Given the description of an element on the screen output the (x, y) to click on. 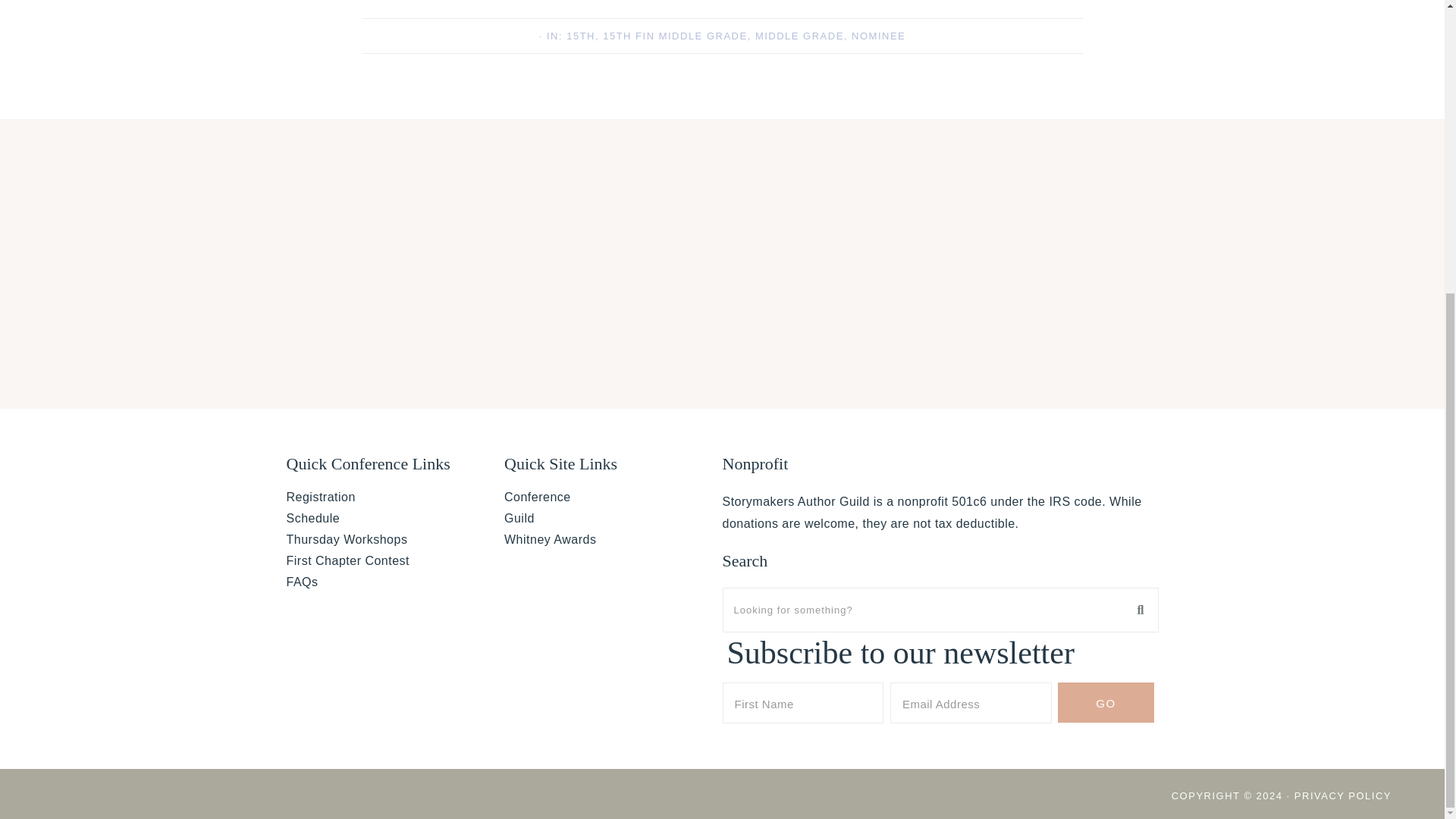
Go (1106, 702)
